Given the description of an element on the screen output the (x, y) to click on. 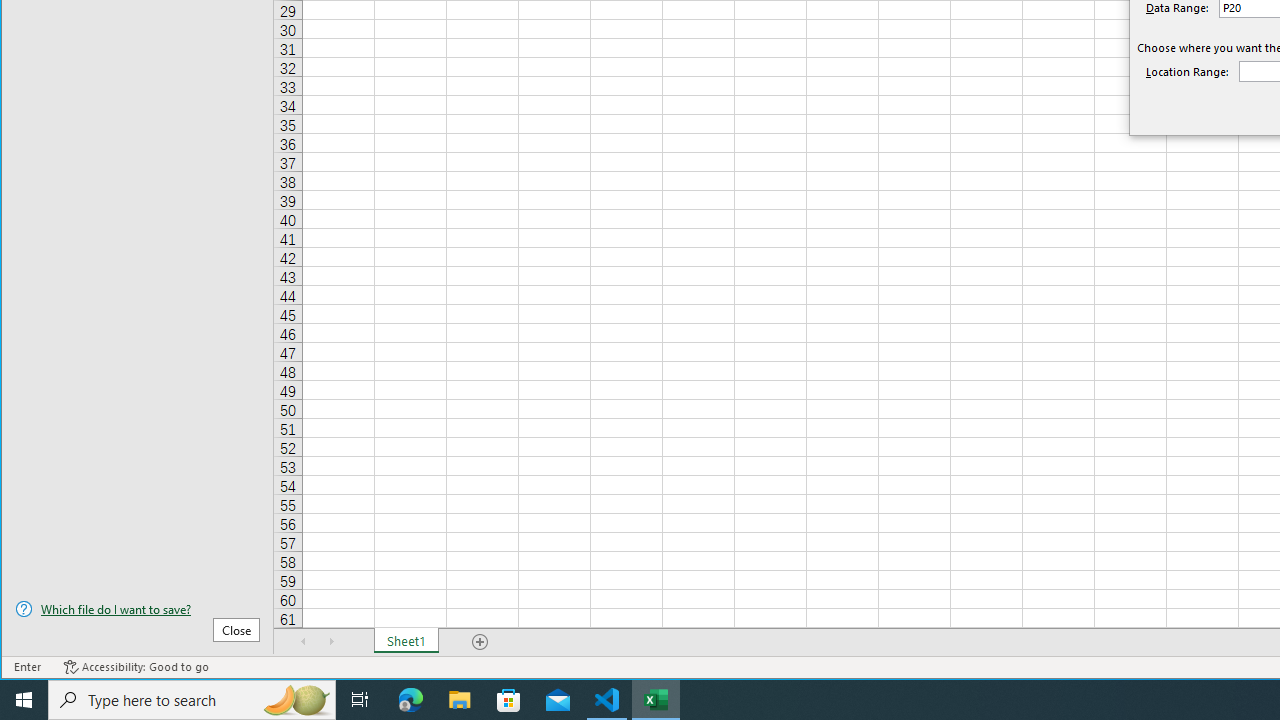
Scroll Right (331, 641)
Accessibility Checker Accessibility: Good to go (136, 667)
Which file do I want to save? (137, 609)
Scroll Left (303, 641)
Sheet1 (406, 641)
Add Sheet (481, 641)
